Given the description of an element on the screen output the (x, y) to click on. 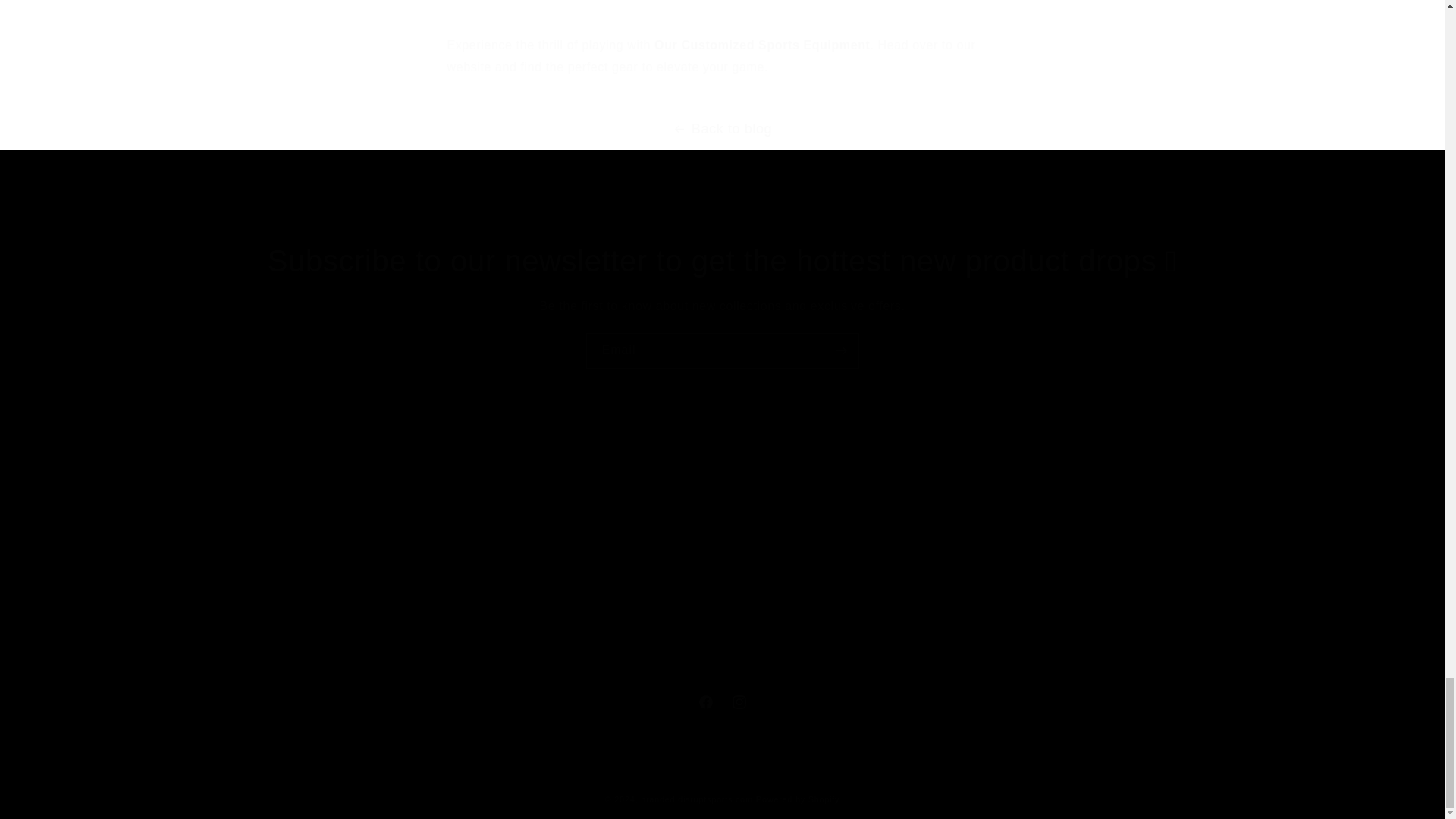
Email (721, 702)
Our Customized Sports Equipment (722, 350)
